Given the description of an element on the screen output the (x, y) to click on. 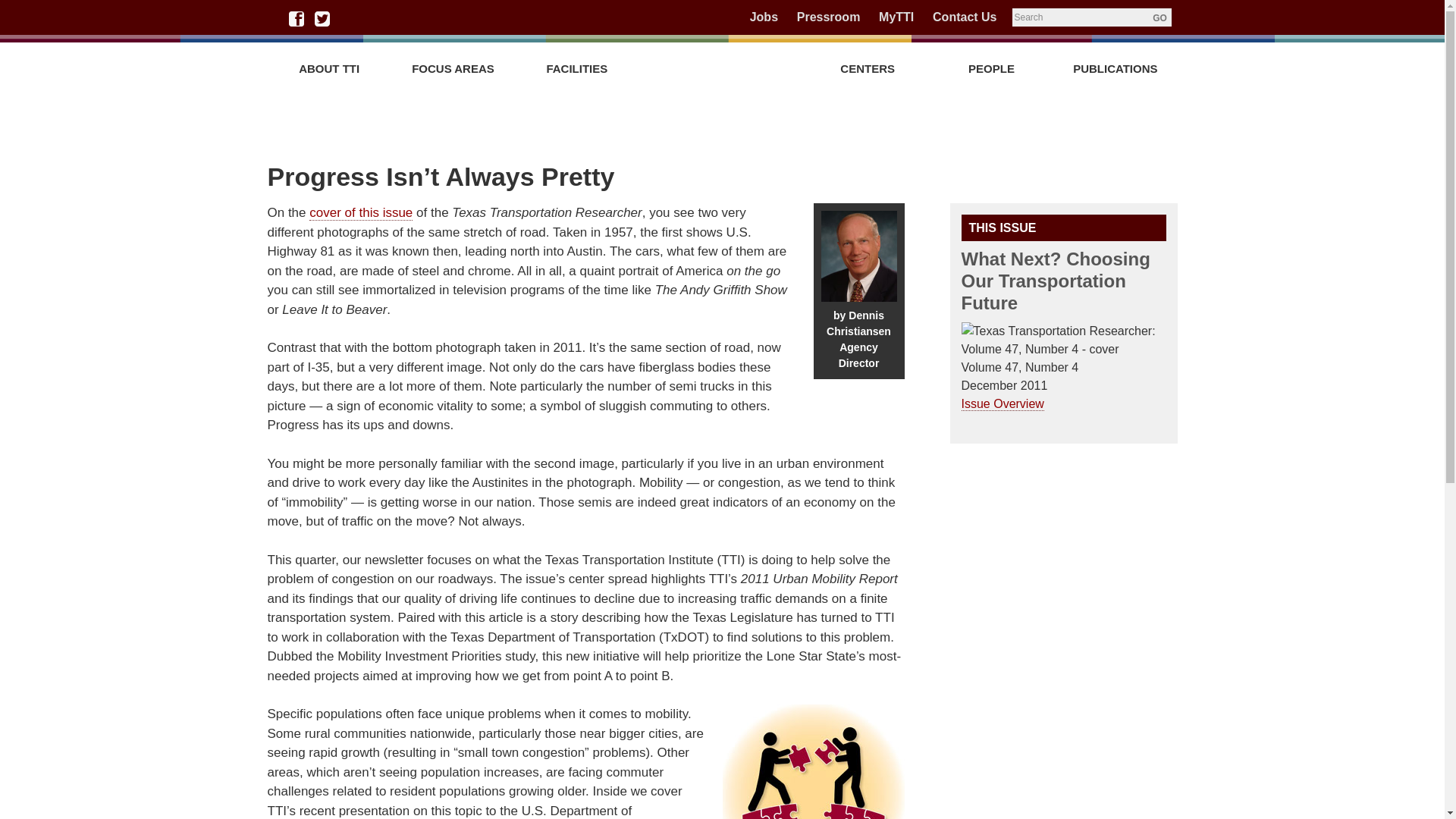
Jobs (763, 16)
Pressroom (828, 16)
ABOUT TTI (328, 68)
GO (1159, 17)
GO (1159, 17)
RSS (453, 18)
TTI Instagram (401, 18)
TTI LinkedIn (348, 18)
Twitter (322, 18)
YouTube (375, 18)
